Given the description of an element on the screen output the (x, y) to click on. 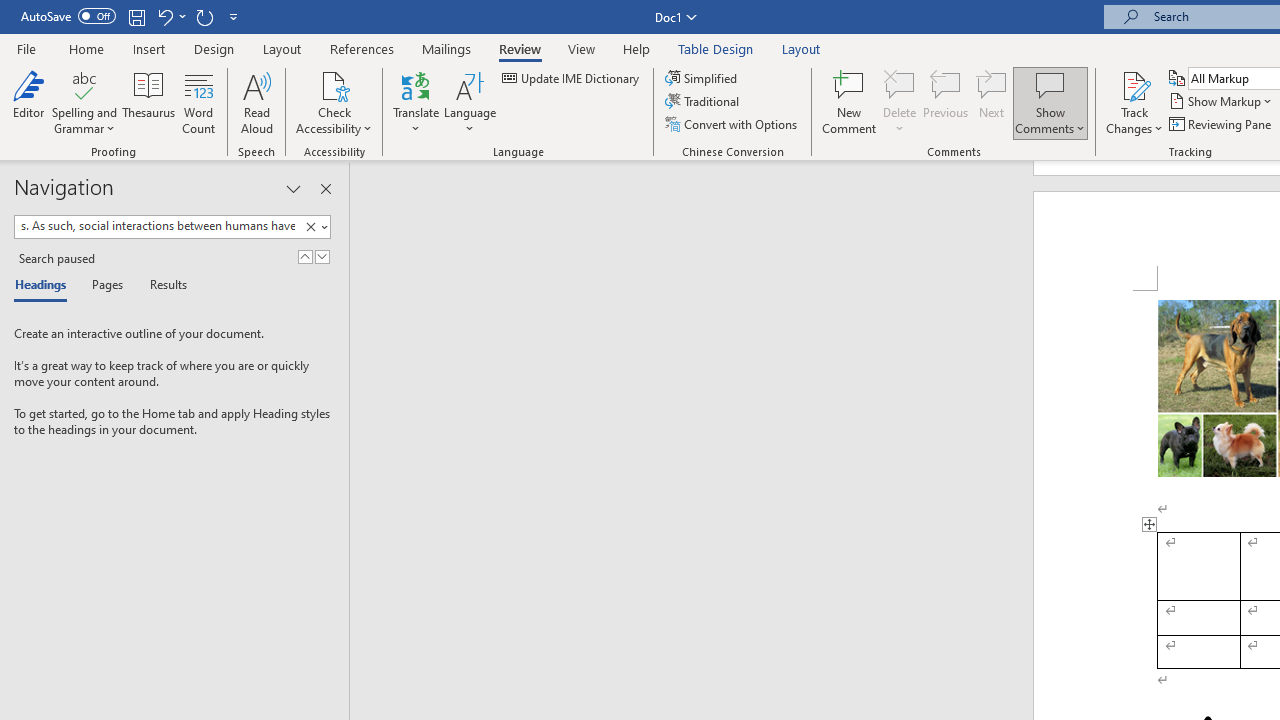
System (10, 11)
Show Comments (1050, 102)
AutoSave (68, 16)
Language (470, 102)
File Tab (26, 48)
Results (161, 285)
Previous Result (304, 256)
Clear (310, 227)
Repeat Style (204, 15)
Simplified (702, 78)
Clear (314, 227)
More Options (1134, 121)
Quick Access Toolbar (131, 16)
Insert (149, 48)
Show Comments (1050, 84)
